Given the description of an element on the screen output the (x, y) to click on. 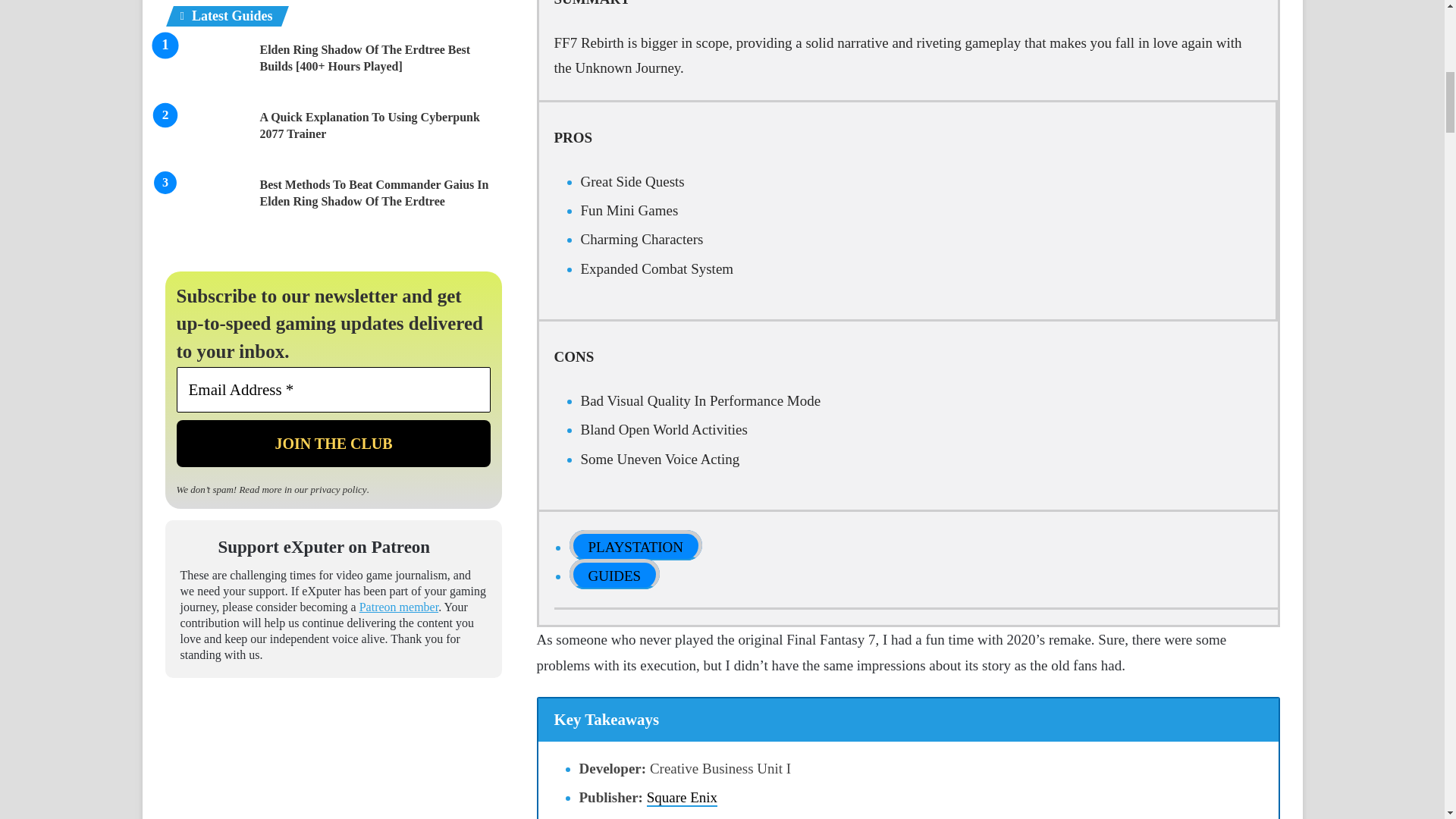
JOIN THE  CLUB (333, 443)
